Given the description of an element on the screen output the (x, y) to click on. 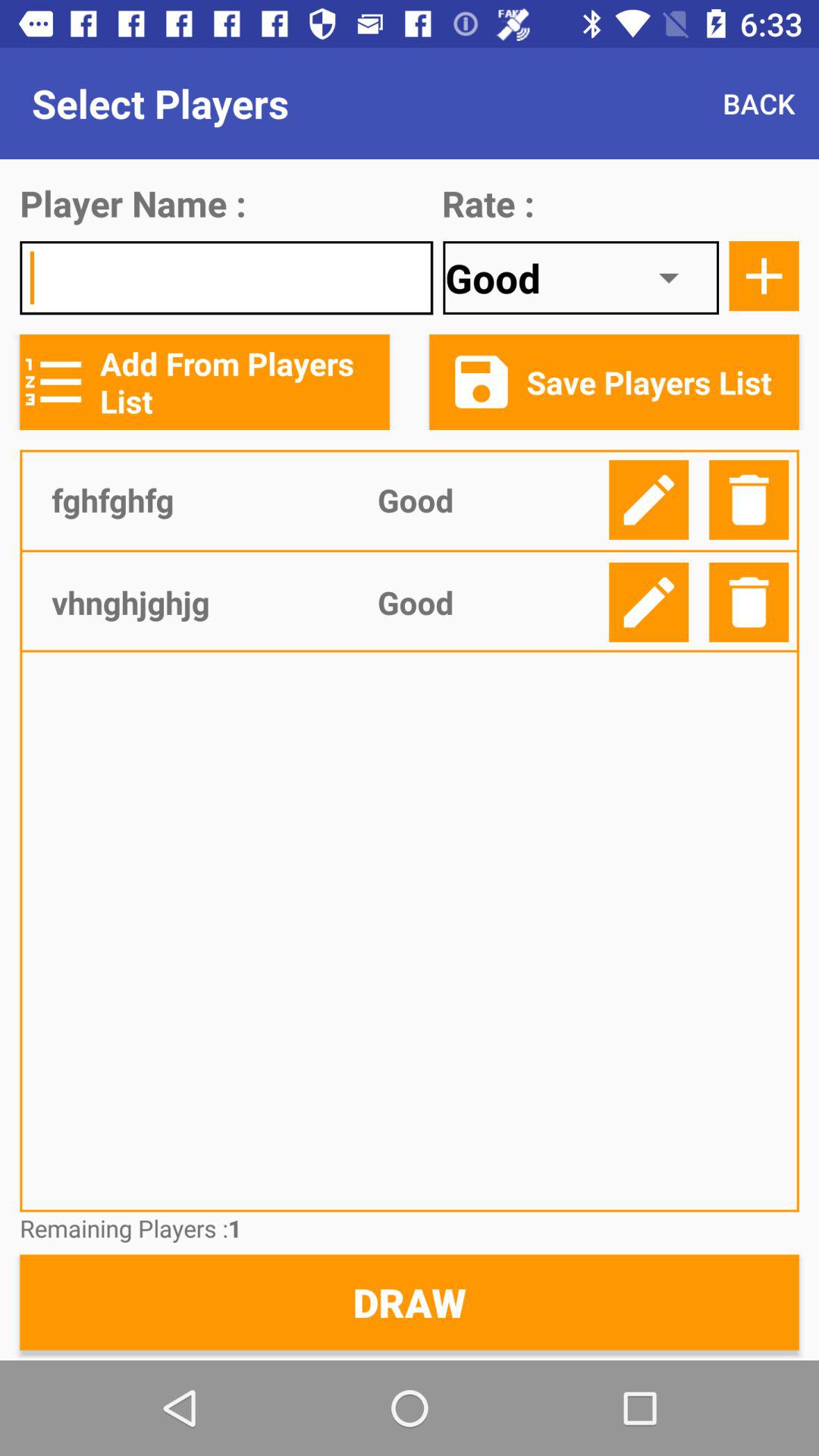
delete (748, 602)
